Given the description of an element on the screen output the (x, y) to click on. 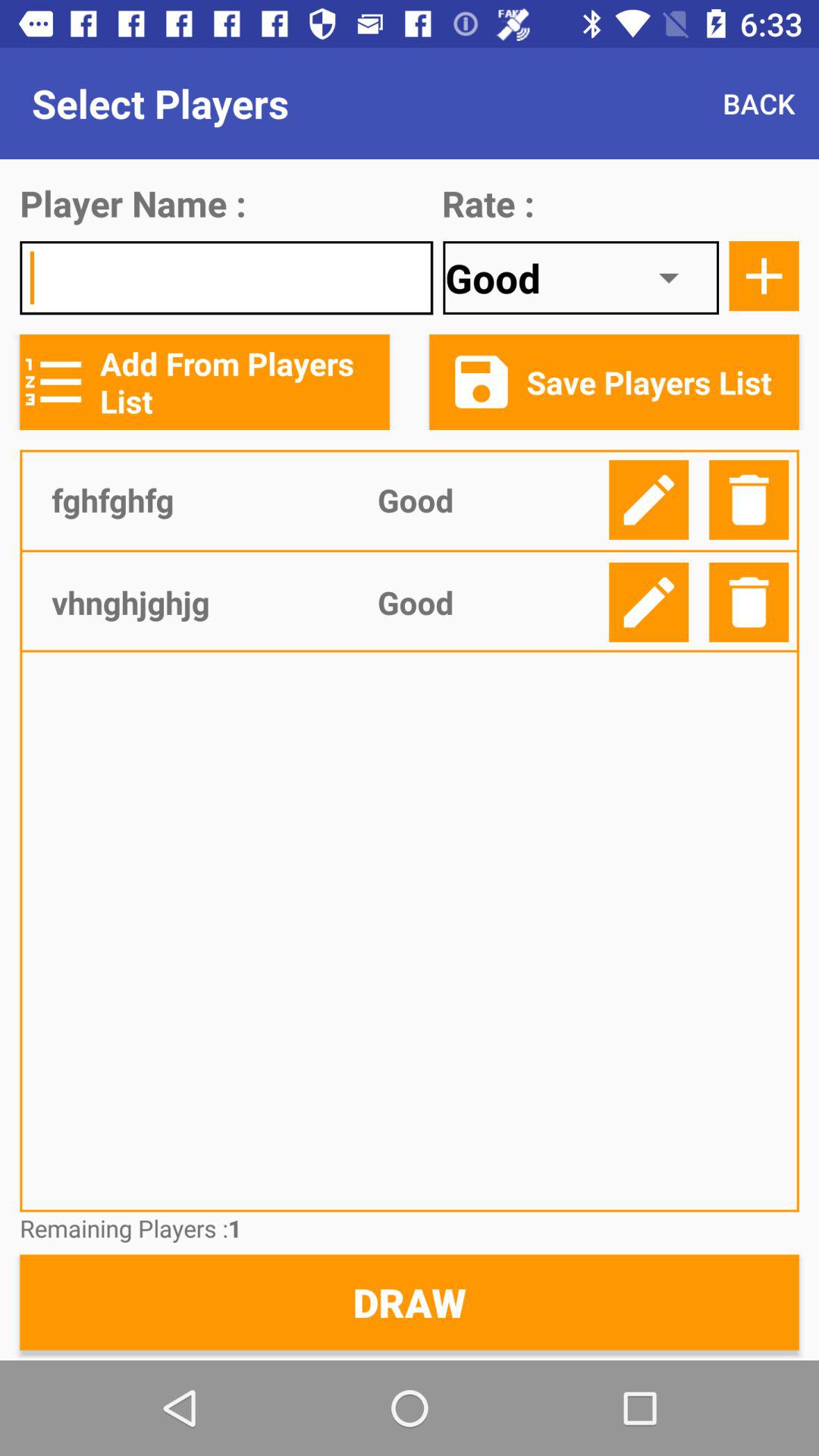
delete (748, 602)
